Given the description of an element on the screen output the (x, y) to click on. 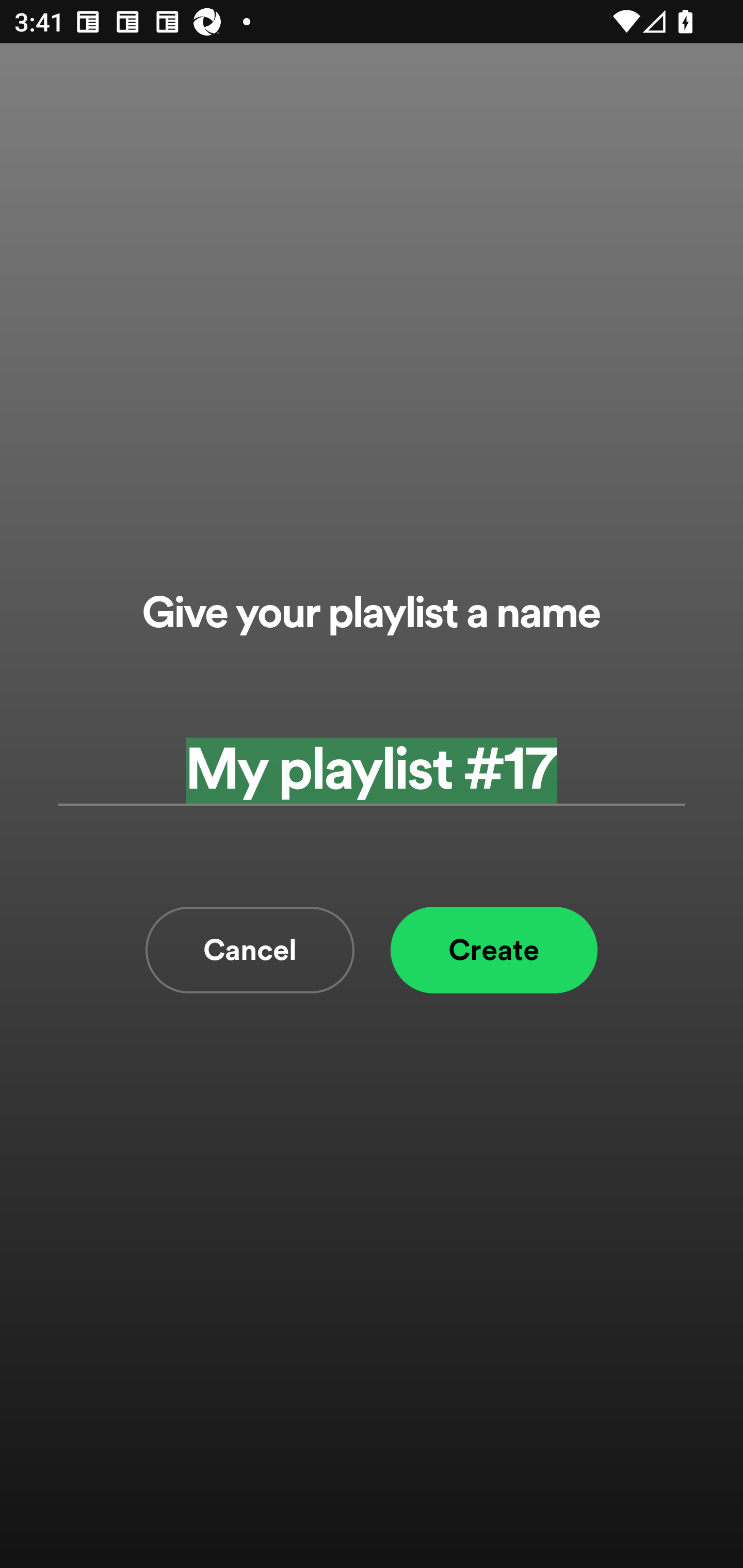
My playlist #17 Add a playlist name (371, 769)
Cancel (249, 950)
Create (493, 950)
